Given the description of an element on the screen output the (x, y) to click on. 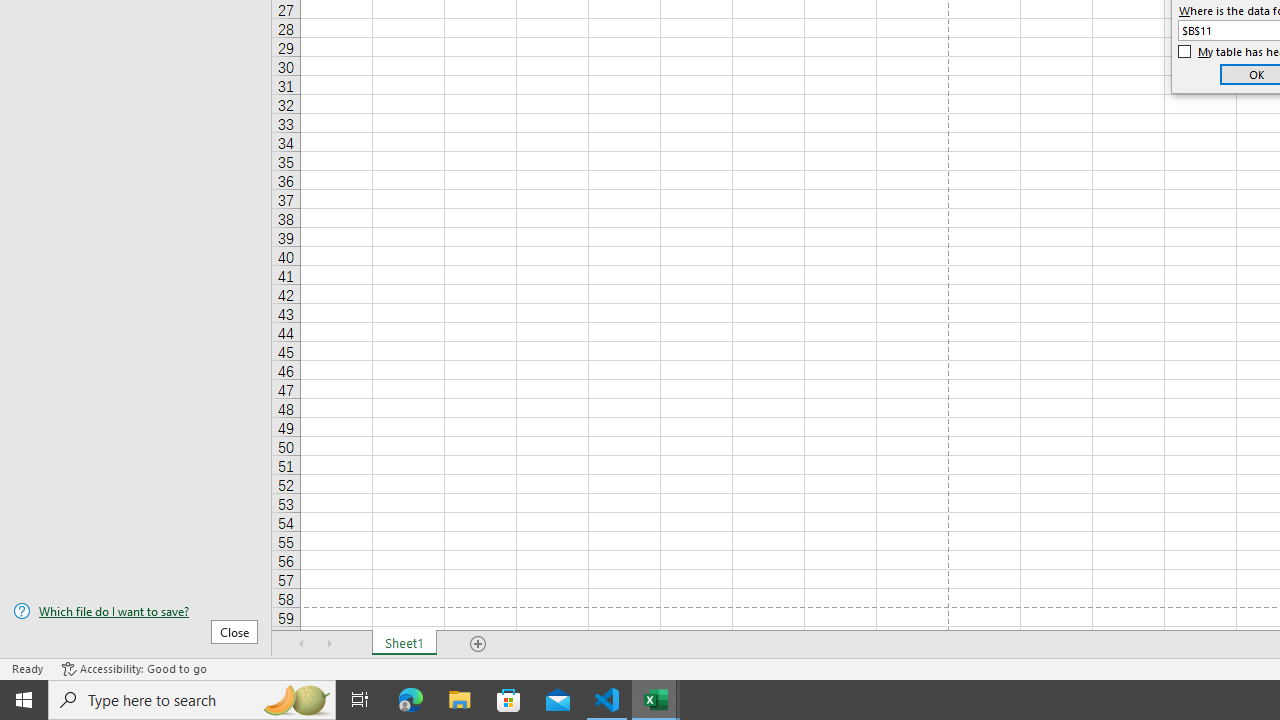
Add Sheet (478, 644)
Close (234, 631)
Accessibility Checker Accessibility: Good to go (134, 668)
Scroll Right (330, 644)
Sheet1 (404, 644)
Which file do I want to save? (136, 611)
Scroll Left (302, 644)
